Given the description of an element on the screen output the (x, y) to click on. 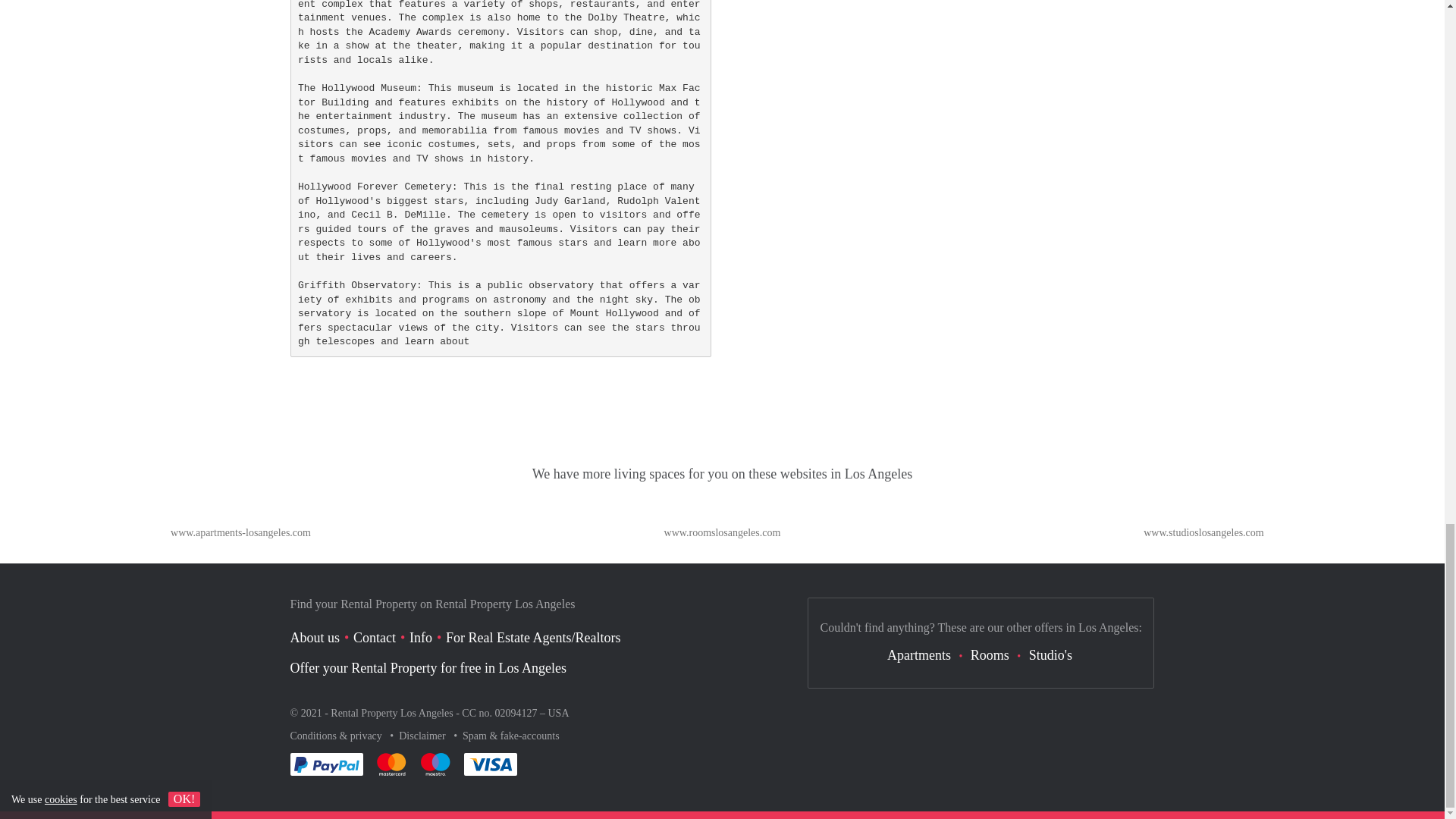
USA (558, 713)
Offer your Rental Property for free in Los Angeles (427, 667)
Our Rooms in Los Angeles (990, 654)
Go to Rooms Los Angeles (721, 532)
www.roomslosangeles.com (721, 532)
About us (314, 637)
Contact (374, 637)
Rooms (990, 654)
Studio's (1050, 654)
www.apartments-losangeles.com (240, 532)
Our Studio's in Los Angeles (1050, 654)
Go to Apartments   Los Angeles (240, 532)
Apartments (918, 654)
Go to Studio's Los Angeles (1202, 532)
Disclaimer (423, 736)
